Given the description of an element on the screen output the (x, y) to click on. 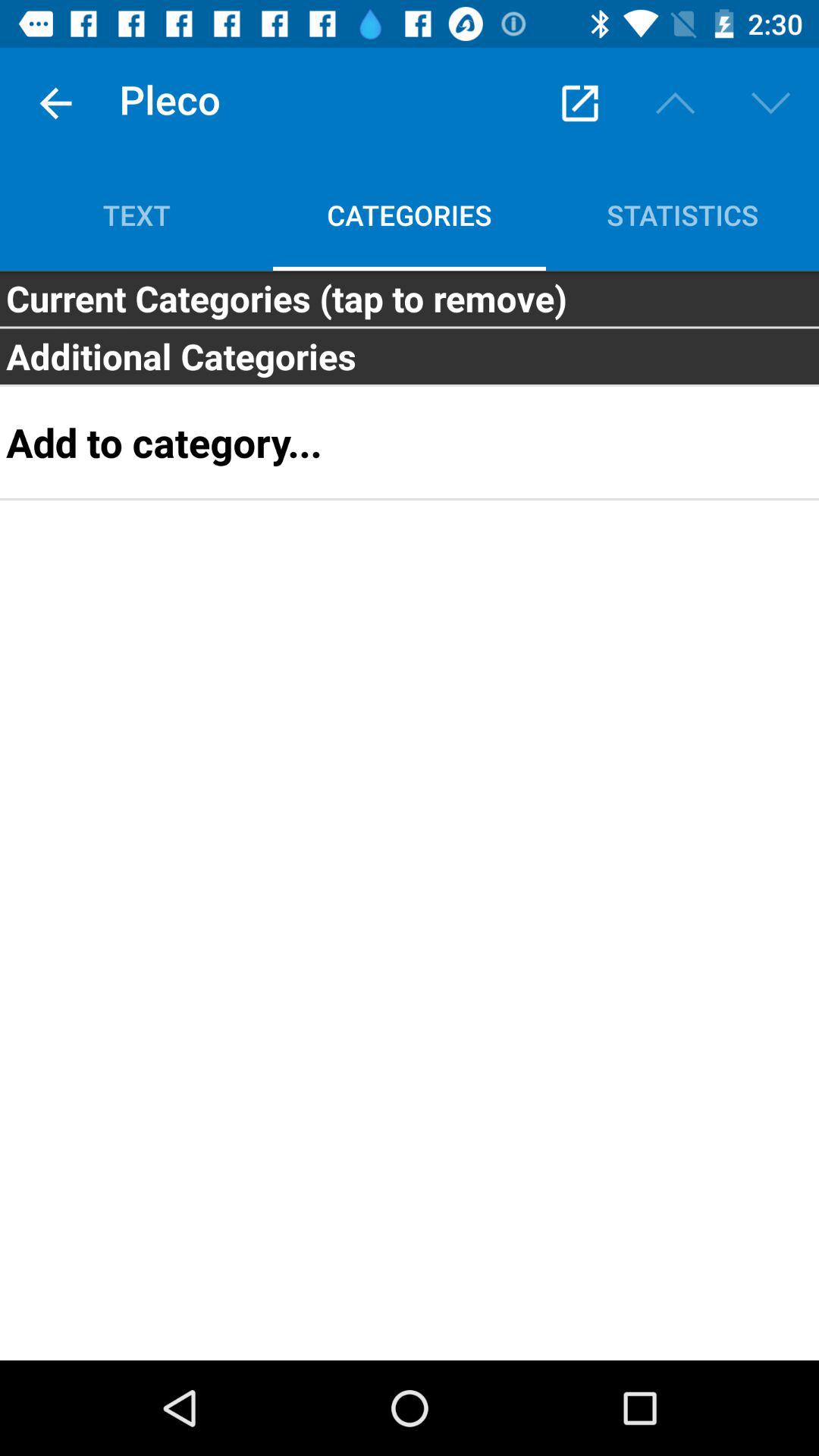
tap the icon above statistics icon (771, 103)
